Given the description of an element on the screen output the (x, y) to click on. 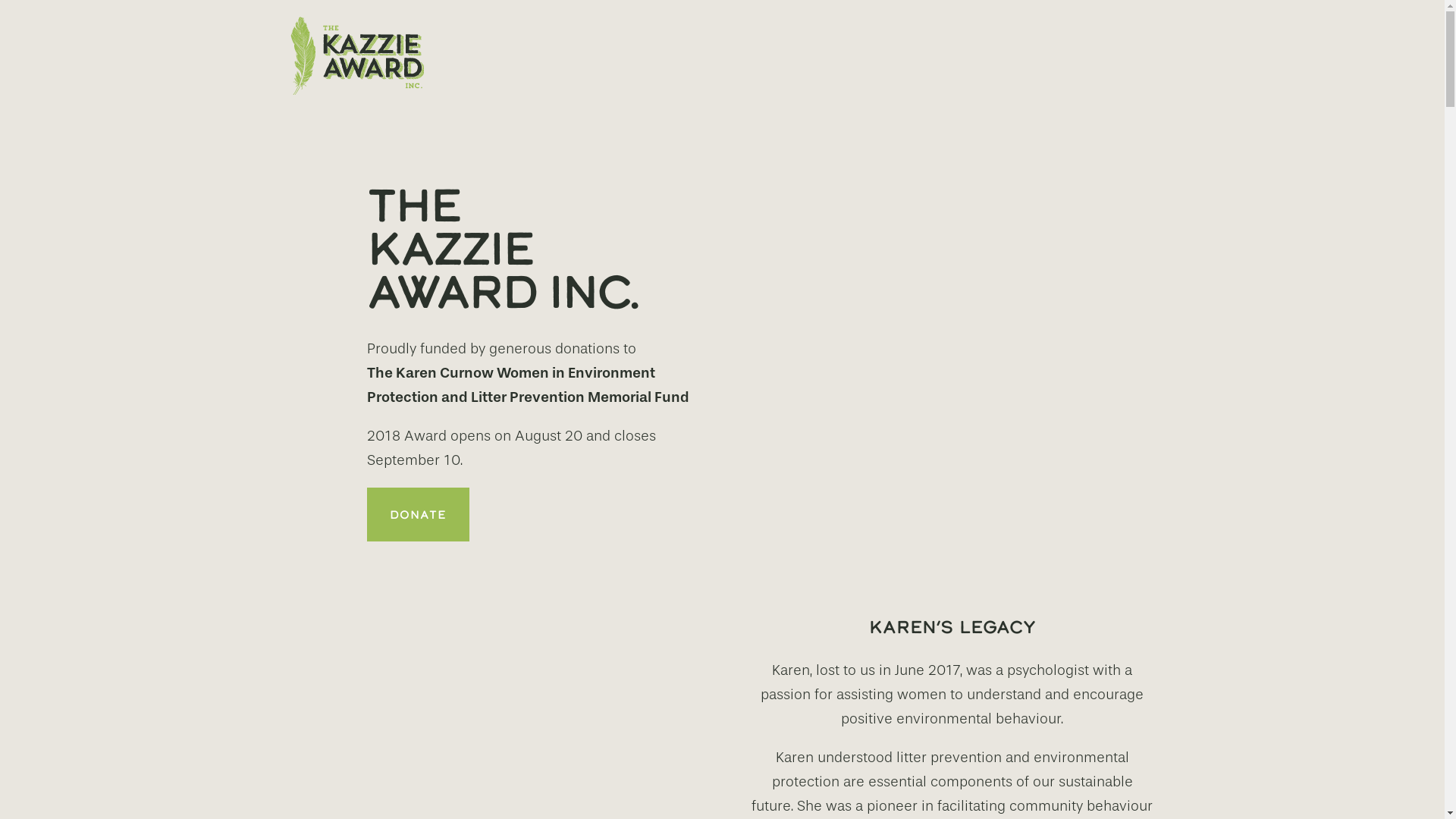
DONATE Element type: text (418, 514)
